Given the description of an element on the screen output the (x, y) to click on. 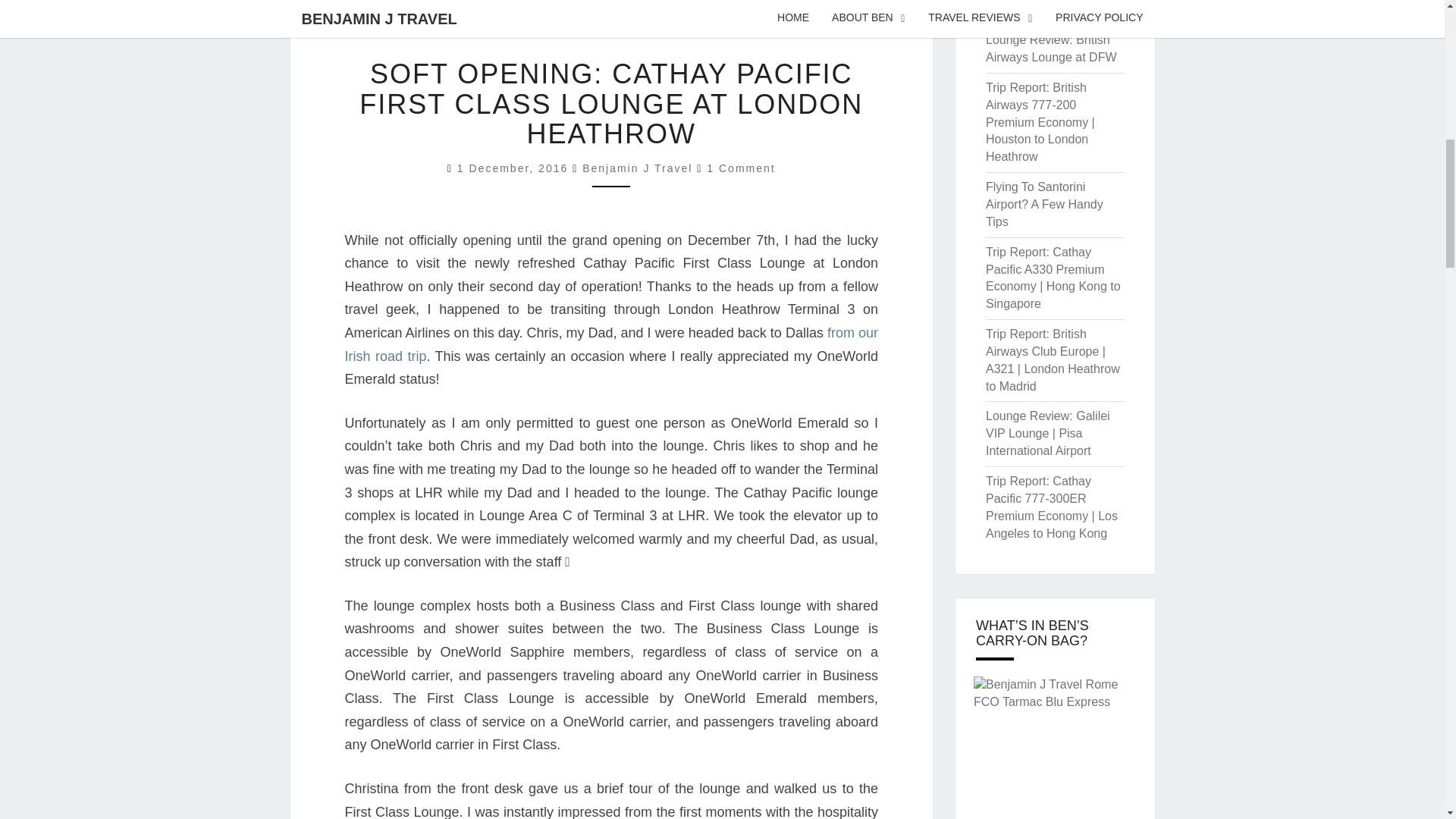
1 December, 2016 (514, 168)
from our Irish road trip (610, 344)
1 Comment (740, 168)
View all posts by Benjamin J Travel (637, 168)
7:40 am (514, 168)
Benjamin J Travel (637, 168)
